Given the description of an element on the screen output the (x, y) to click on. 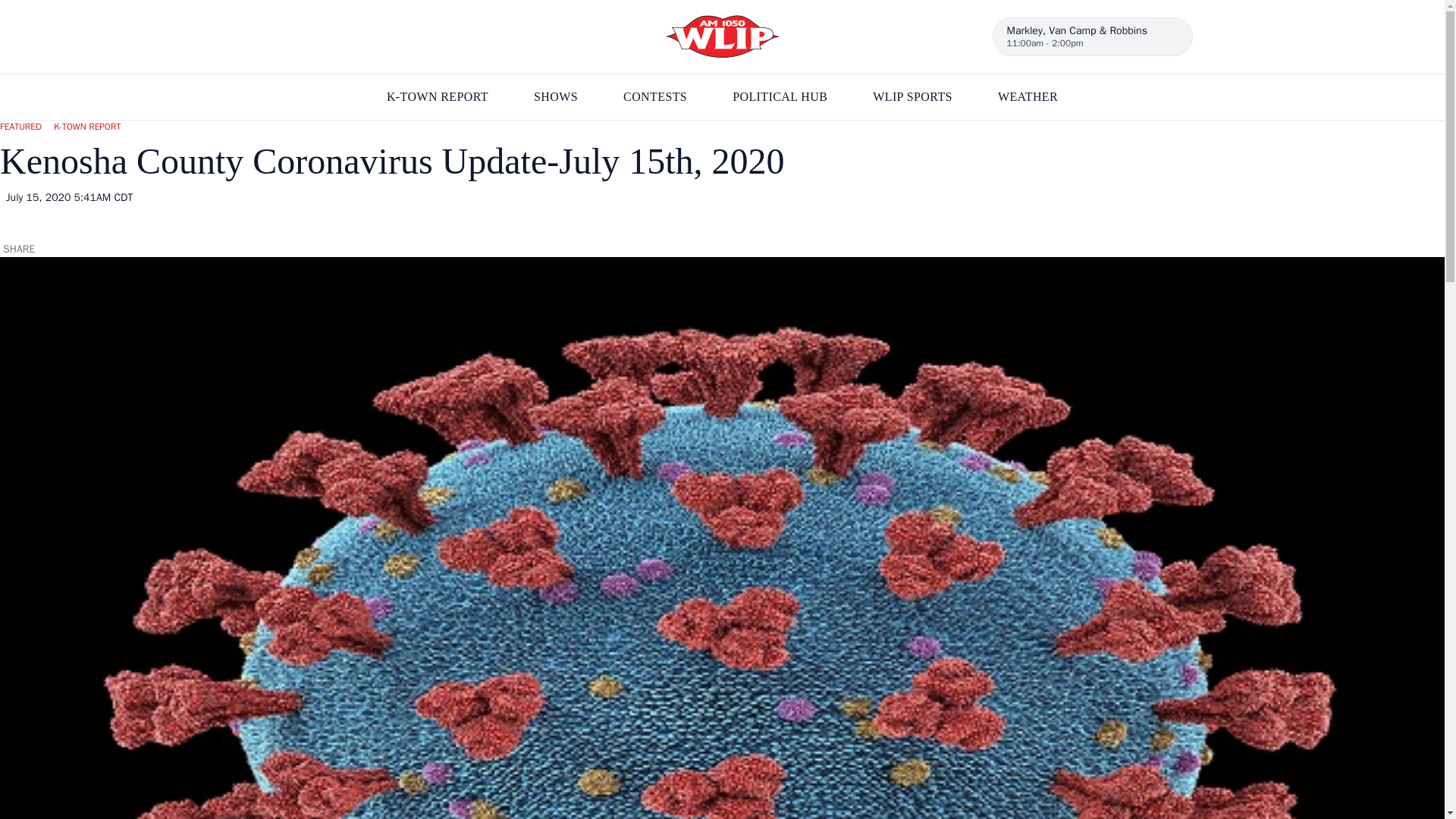
K-TOWN REPORT (437, 96)
AM 1050 WLIP (721, 36)
WEATHER (1027, 96)
SHOWS (556, 96)
WLIP SPORTS (912, 96)
CONTESTS (655, 96)
POLITICAL HUB (779, 96)
